Given the description of an element on the screen output the (x, y) to click on. 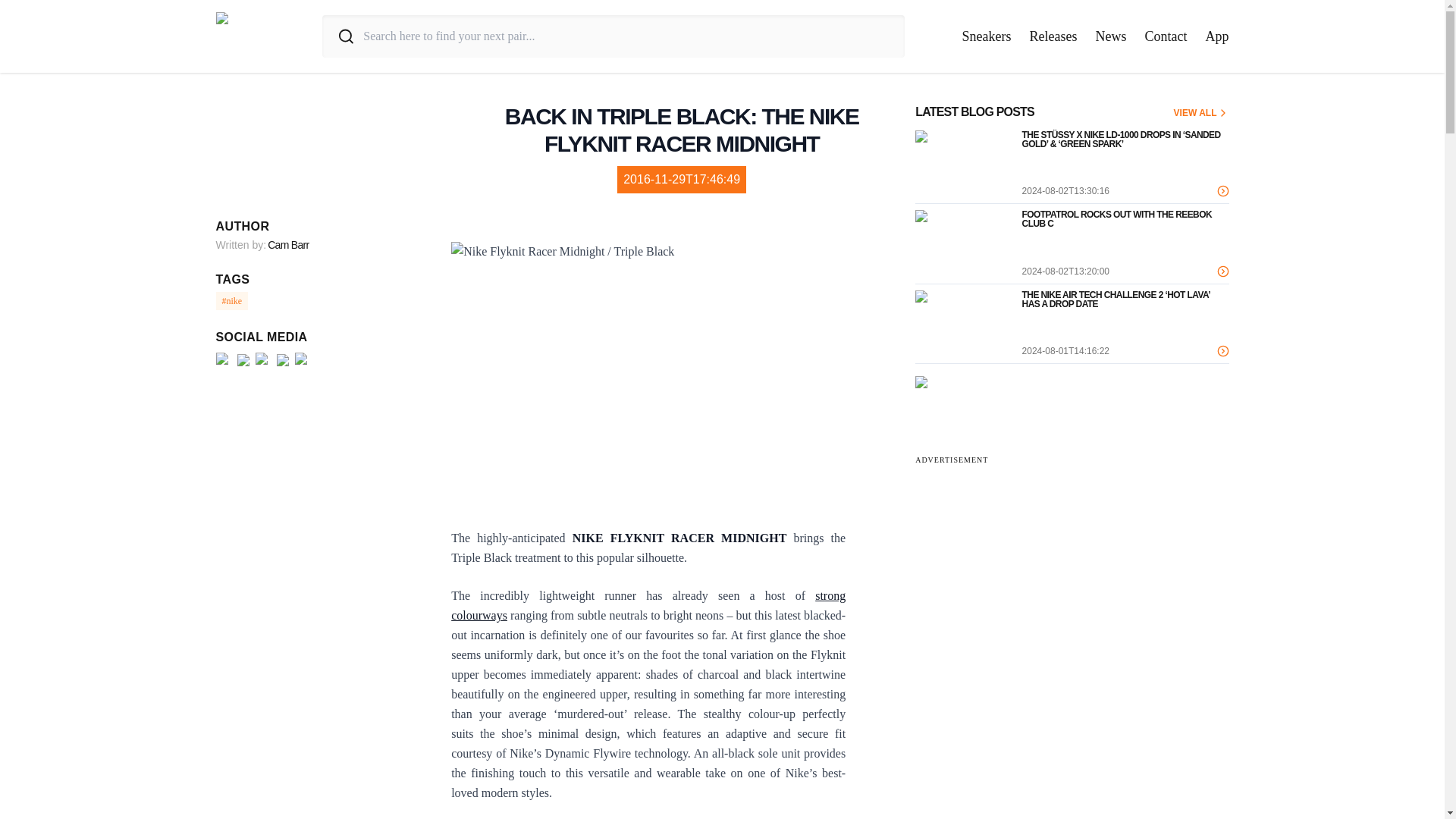
News (1109, 36)
strong colourways (648, 604)
Contact (1166, 36)
VIEW ALL (1200, 112)
Sneakers (986, 36)
App (1216, 36)
Releases (1053, 36)
